Given the description of an element on the screen output the (x, y) to click on. 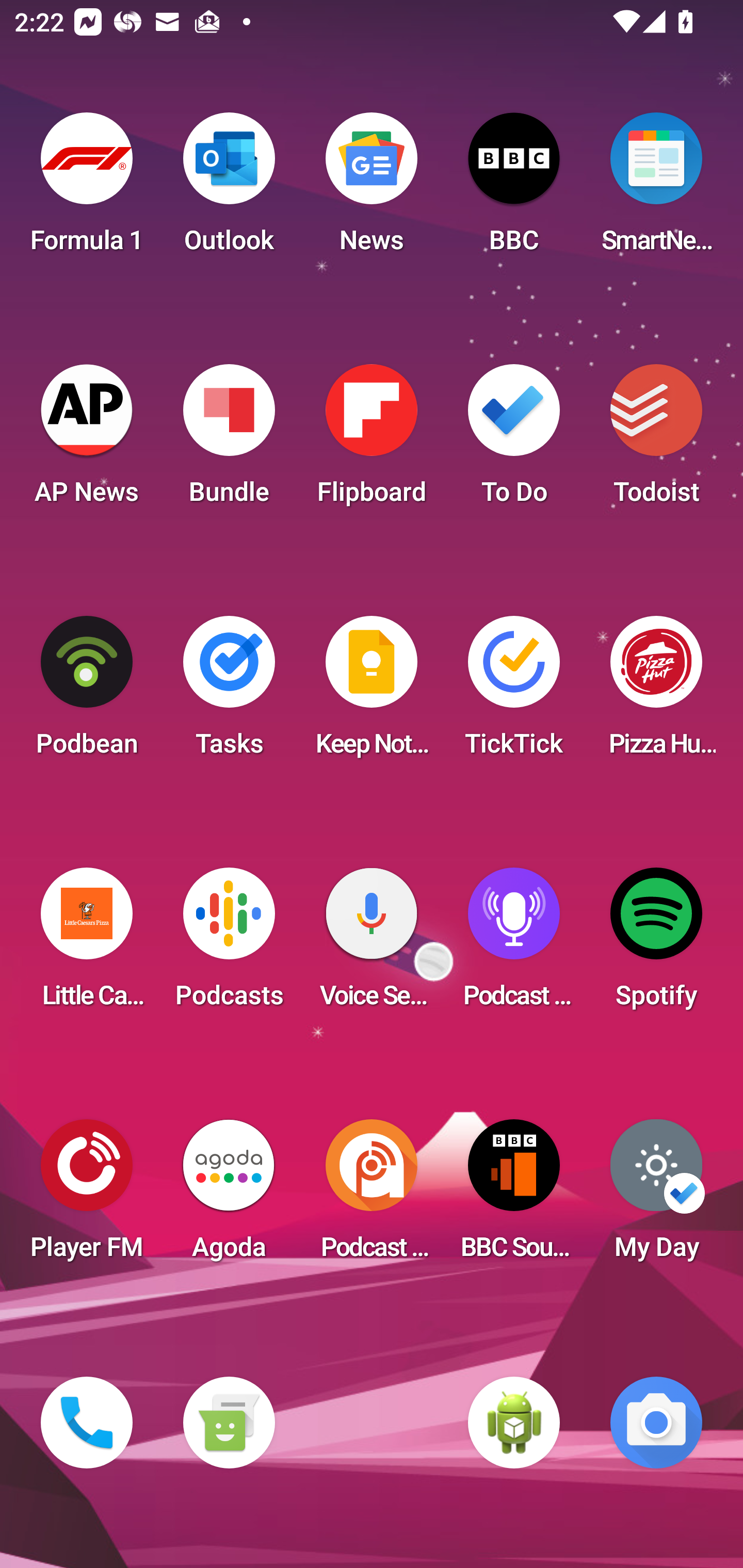
Formula 1 (86, 188)
Outlook (228, 188)
News (371, 188)
BBC (513, 188)
SmartNews (656, 188)
AP News (86, 440)
Bundle (228, 440)
Flipboard (371, 440)
To Do (513, 440)
Todoist (656, 440)
Podbean (86, 692)
Tasks (228, 692)
Keep Notes (371, 692)
TickTick (513, 692)
Pizza Hut HK & Macau (656, 692)
Little Caesars Pizza (86, 943)
Podcasts (228, 943)
Voice Search (371, 943)
Podcast Player (513, 943)
Spotify (656, 943)
Player FM (86, 1195)
Agoda (228, 1195)
Podcast Addict (371, 1195)
BBC Sounds (513, 1195)
My Day (656, 1195)
Phone (86, 1422)
Messaging (228, 1422)
WebView Browser Tester (513, 1422)
Camera (656, 1422)
